Given the description of an element on the screen output the (x, y) to click on. 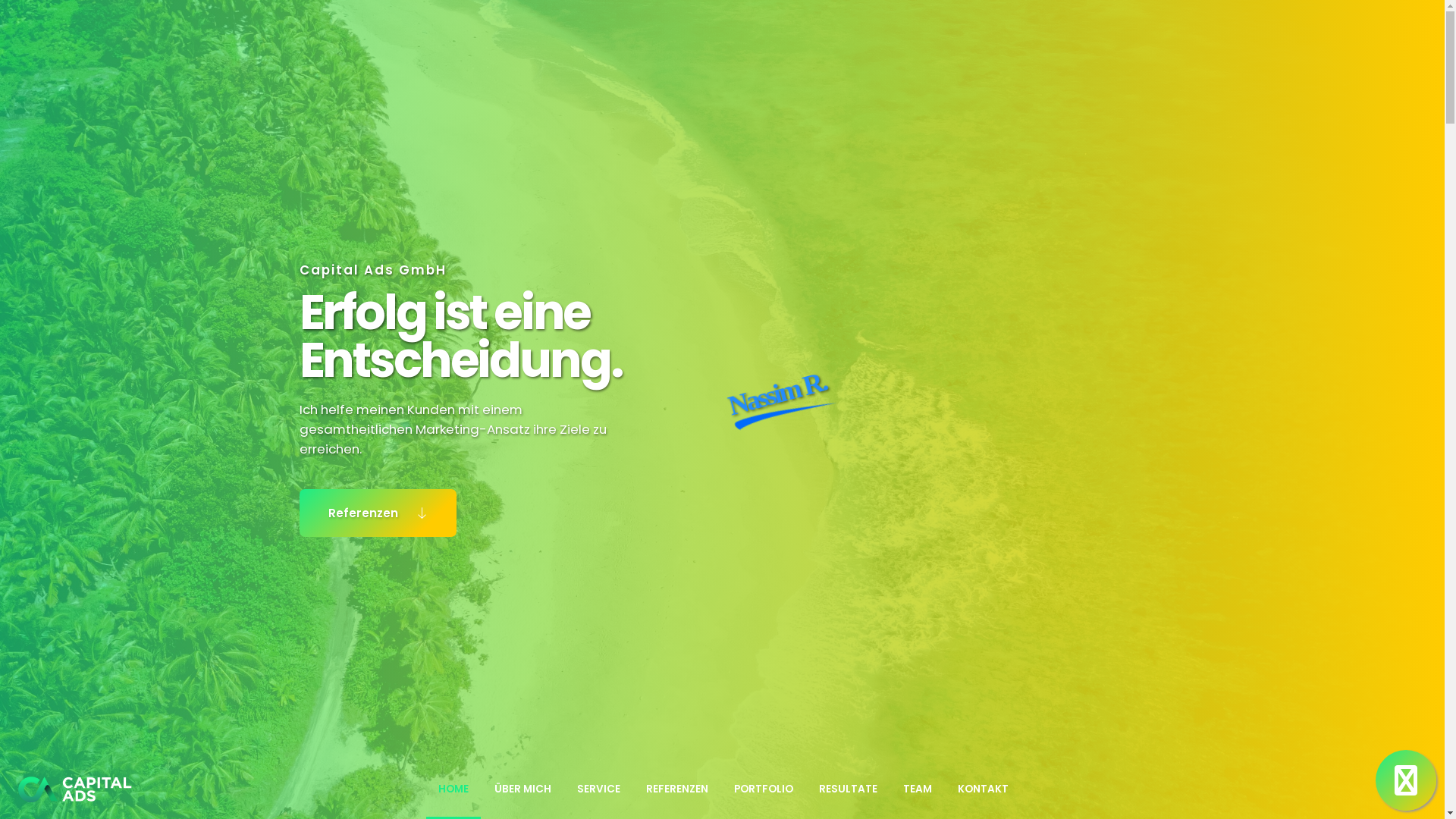
Referenzen Element type: text (377, 512)
